Given the description of an element on the screen output the (x, y) to click on. 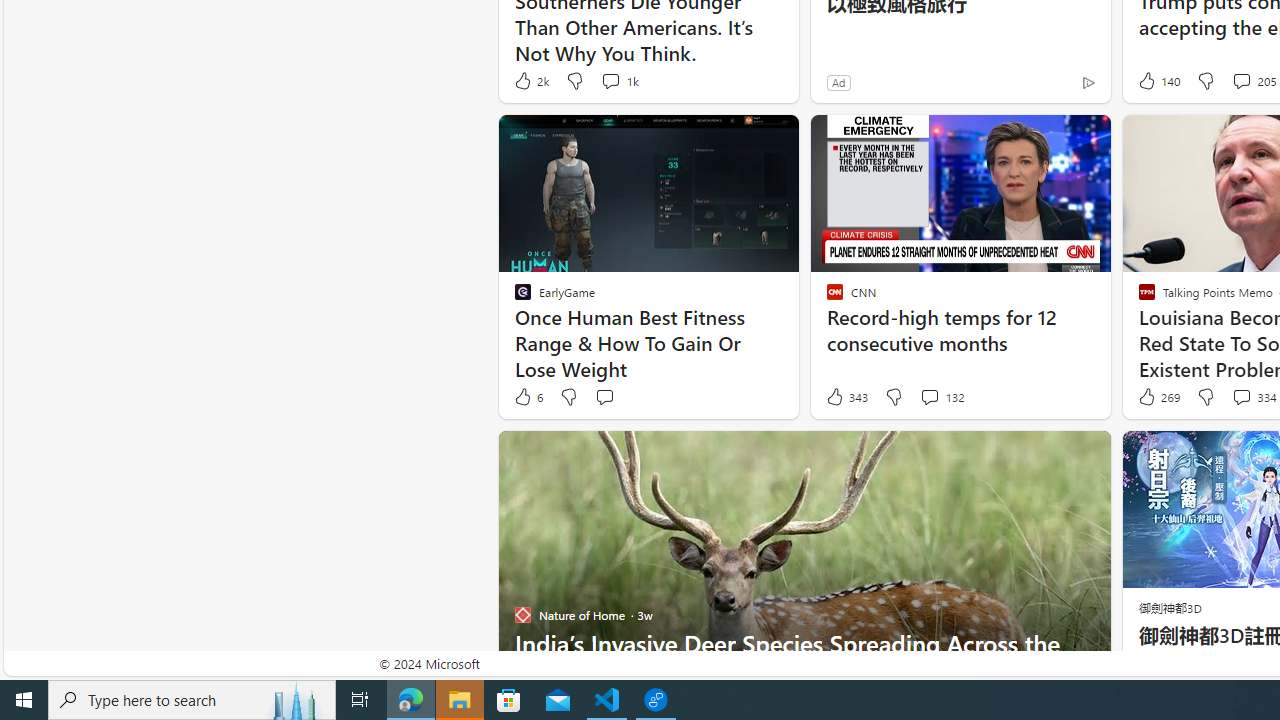
View comments 205 Comment (1241, 80)
Hide this story (1050, 454)
View comments 334 Comment (1241, 396)
View comments 1k Comment (618, 80)
343 Like (845, 397)
269 Like (1157, 397)
2k Like (530, 80)
6 Like (527, 397)
View comments 132 Comment (929, 396)
